Given the description of an element on the screen output the (x, y) to click on. 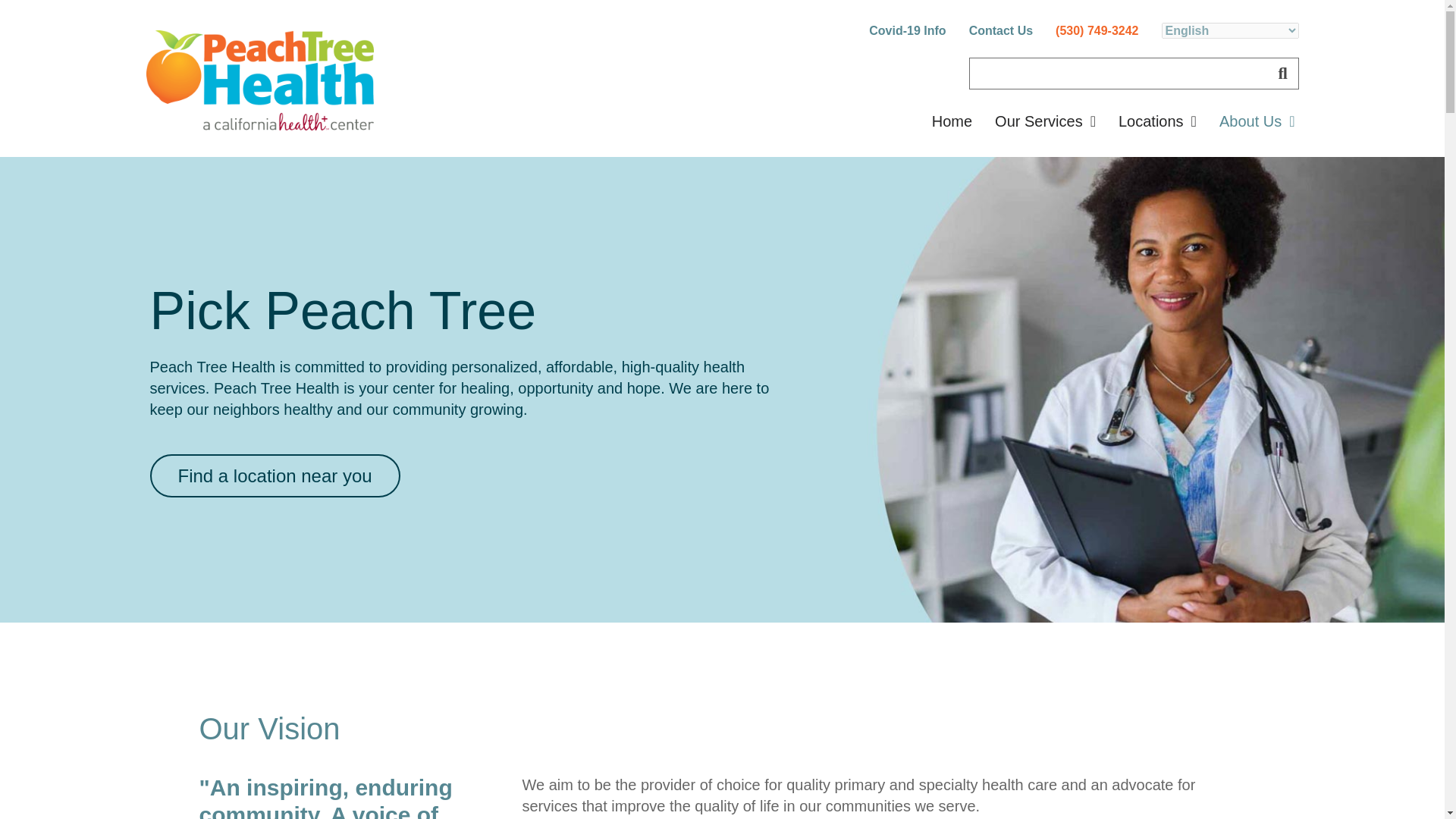
Covid-19 Info (907, 30)
Peach-Tree-Healthcare-Logo (258, 80)
Search (1117, 73)
Contact Us (1000, 30)
